Given the description of an element on the screen output the (x, y) to click on. 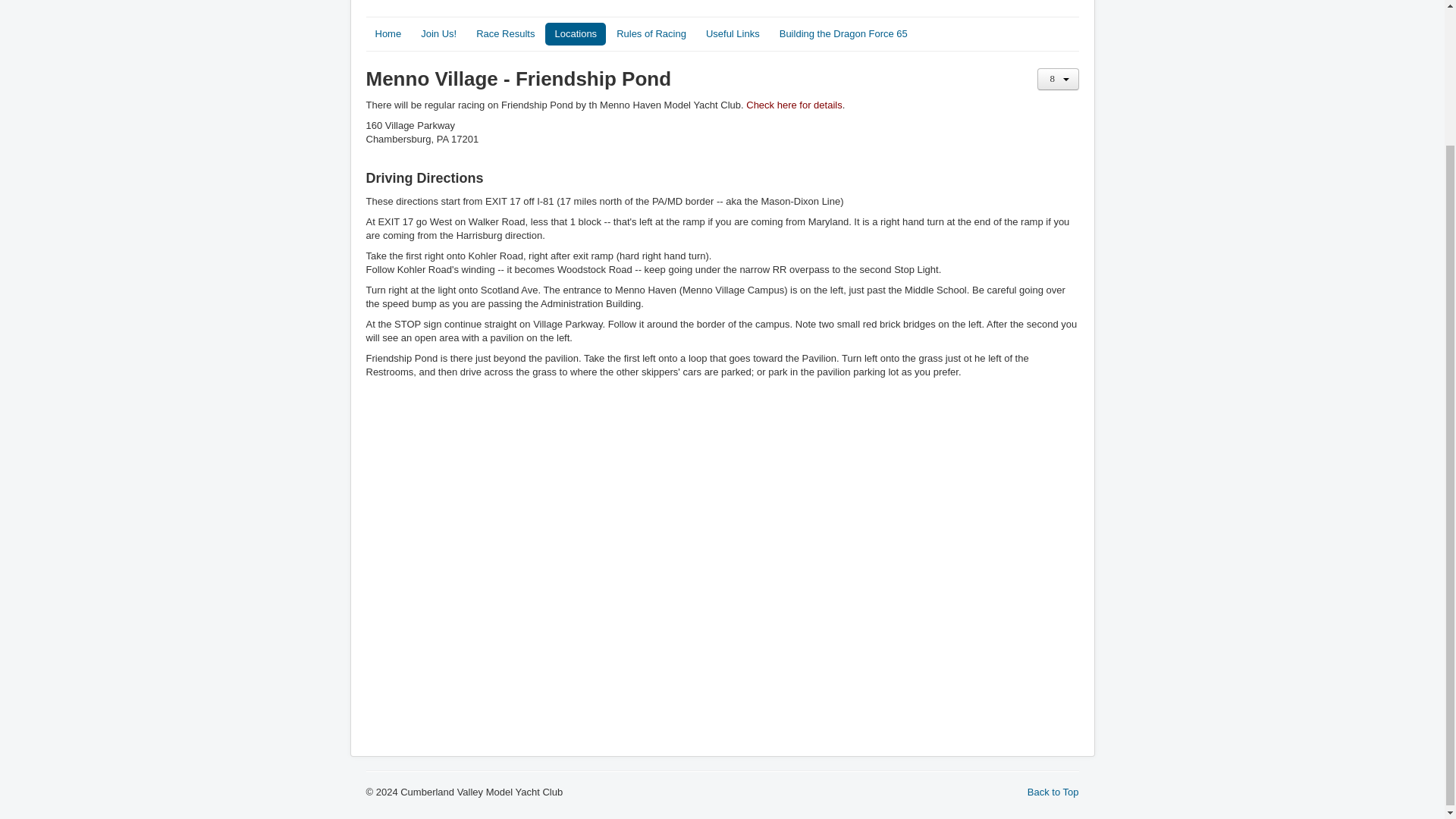
Back to Top (1052, 791)
Home (387, 33)
Useful Links (732, 33)
Locations (574, 33)
Race Results (505, 33)
Join Us! (438, 33)
Check here for details (793, 104)
Building the Dragon Force 65 (843, 33)
Rules of Racing (651, 33)
